Given the description of an element on the screen output the (x, y) to click on. 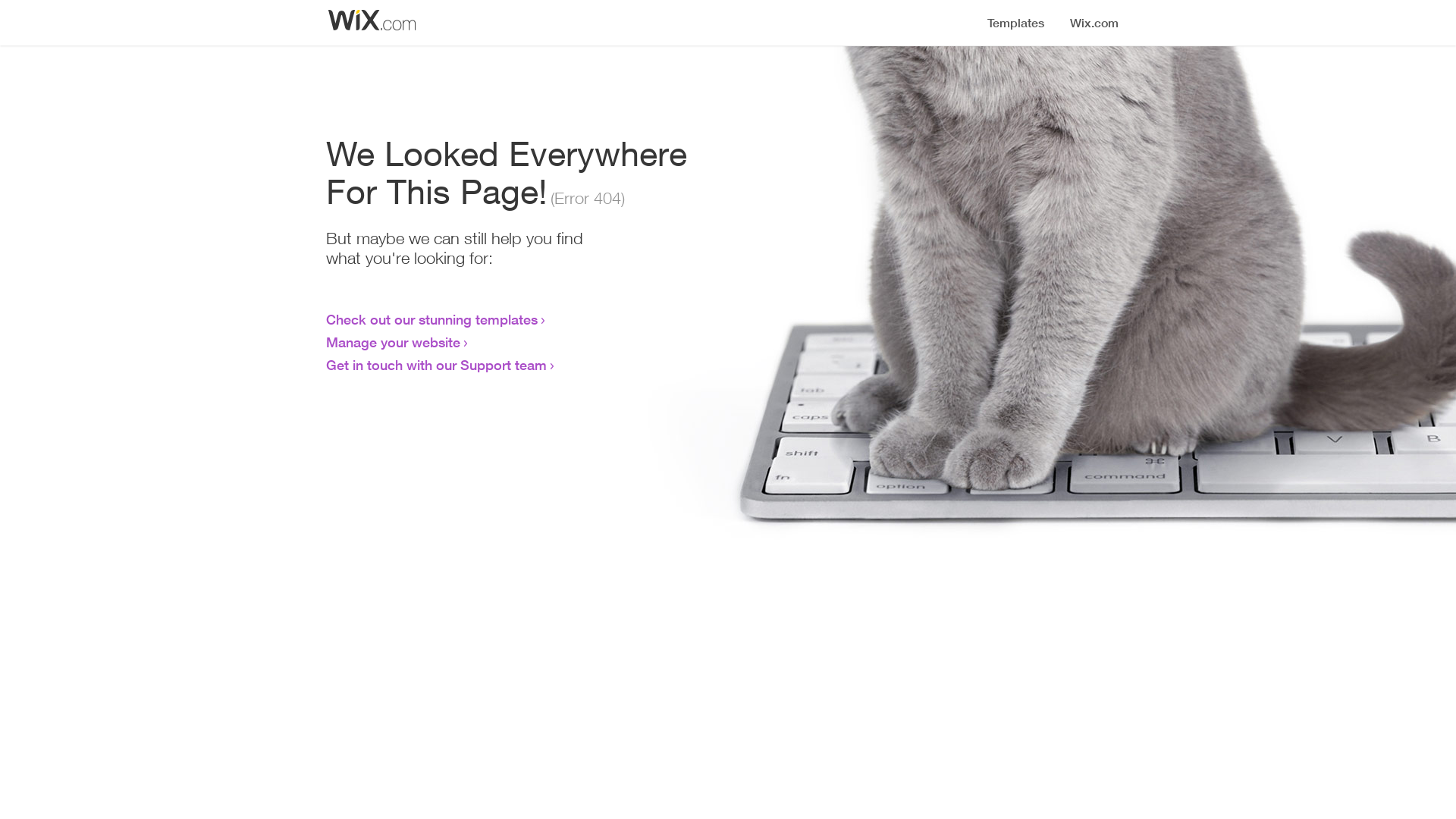
Check out our stunning templates Element type: text (431, 318)
Get in touch with our Support team Element type: text (436, 364)
Manage your website Element type: text (393, 341)
